Given the description of an element on the screen output the (x, y) to click on. 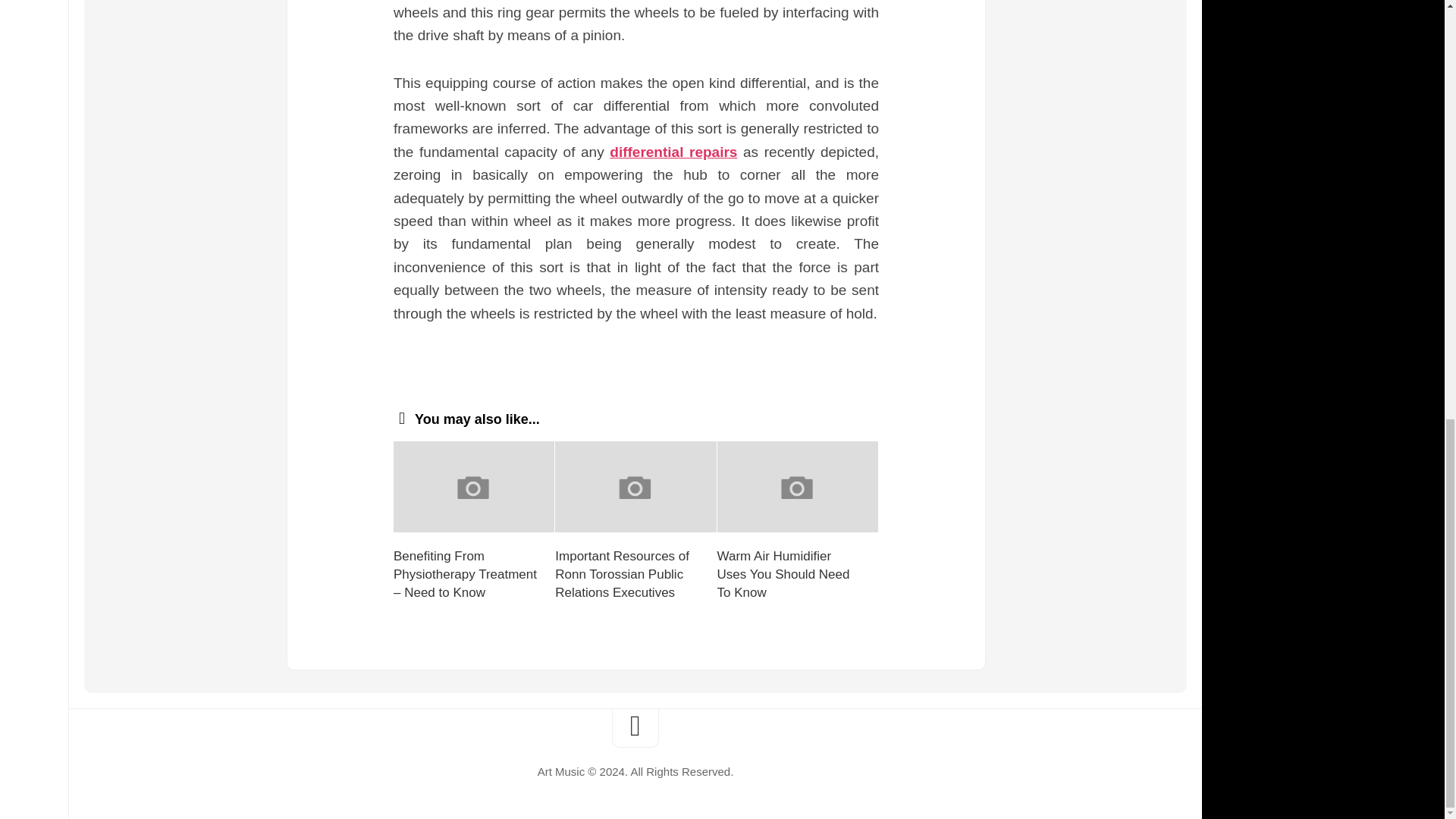
Warm Air Humidifier Uses You Should Need To Know (783, 573)
differential repairs (673, 151)
